Given the description of an element on the screen output the (x, y) to click on. 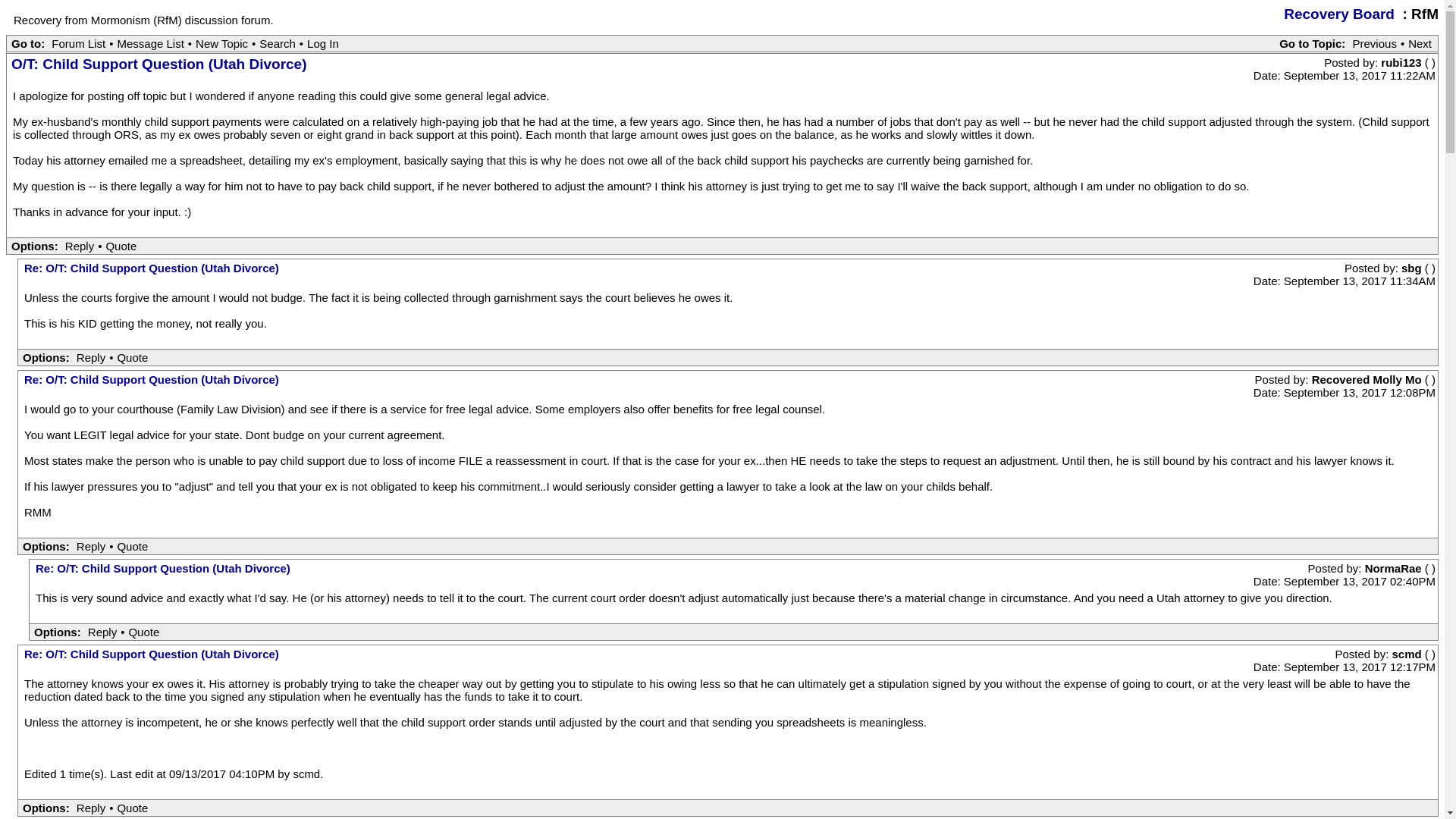
Quote (132, 545)
Quote (143, 631)
Search (277, 43)
Previous (1374, 43)
Quote (120, 246)
Reply (79, 246)
Reply (90, 545)
Quote (132, 357)
Reply (90, 357)
Recovery Board (1339, 13)
